Given the description of an element on the screen output the (x, y) to click on. 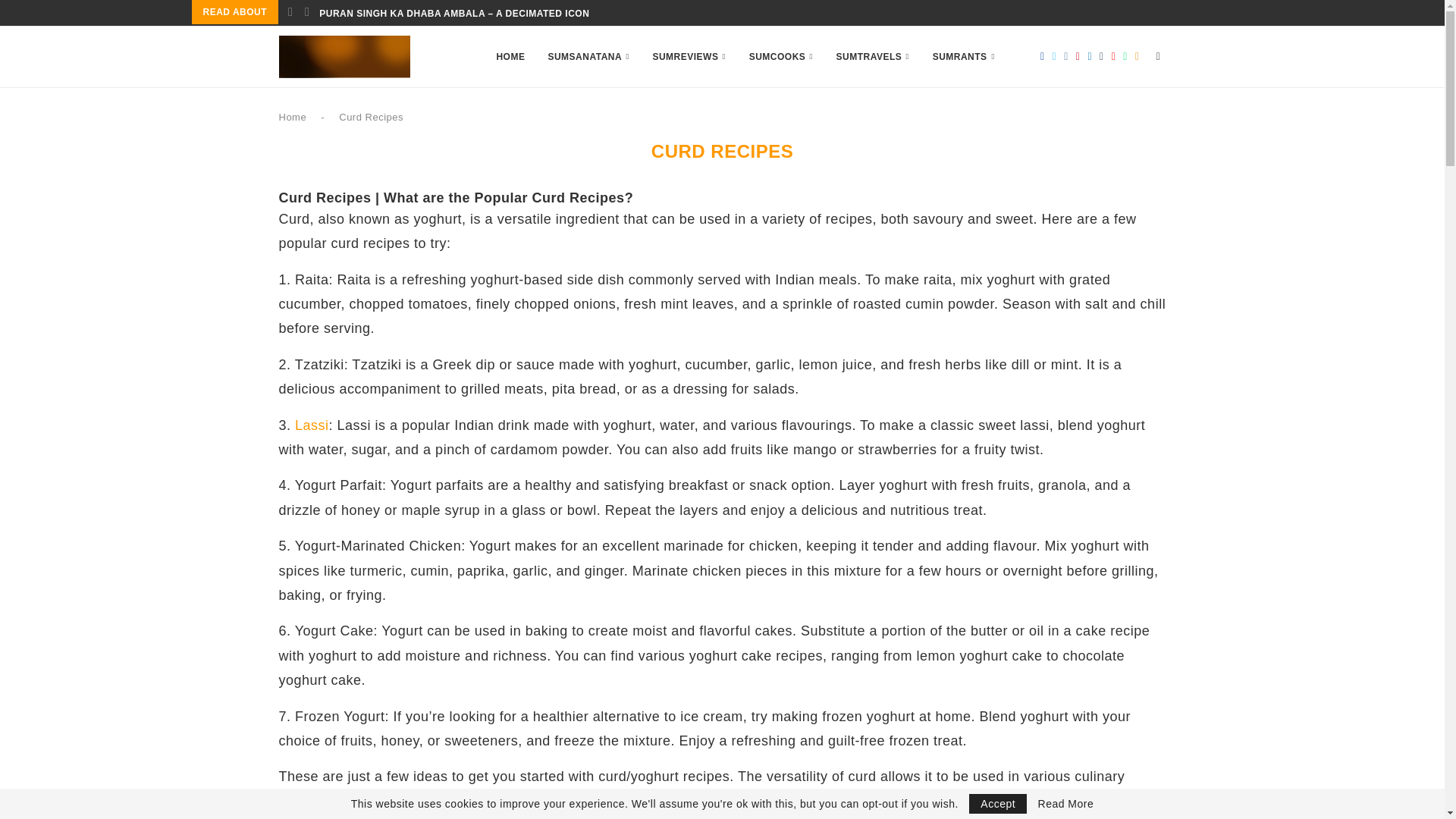
SUMREVIEWS (688, 56)
Lassi (312, 425)
SUMCOOKS (781, 56)
SUMSANATANA (587, 56)
